Given the description of an element on the screen output the (x, y) to click on. 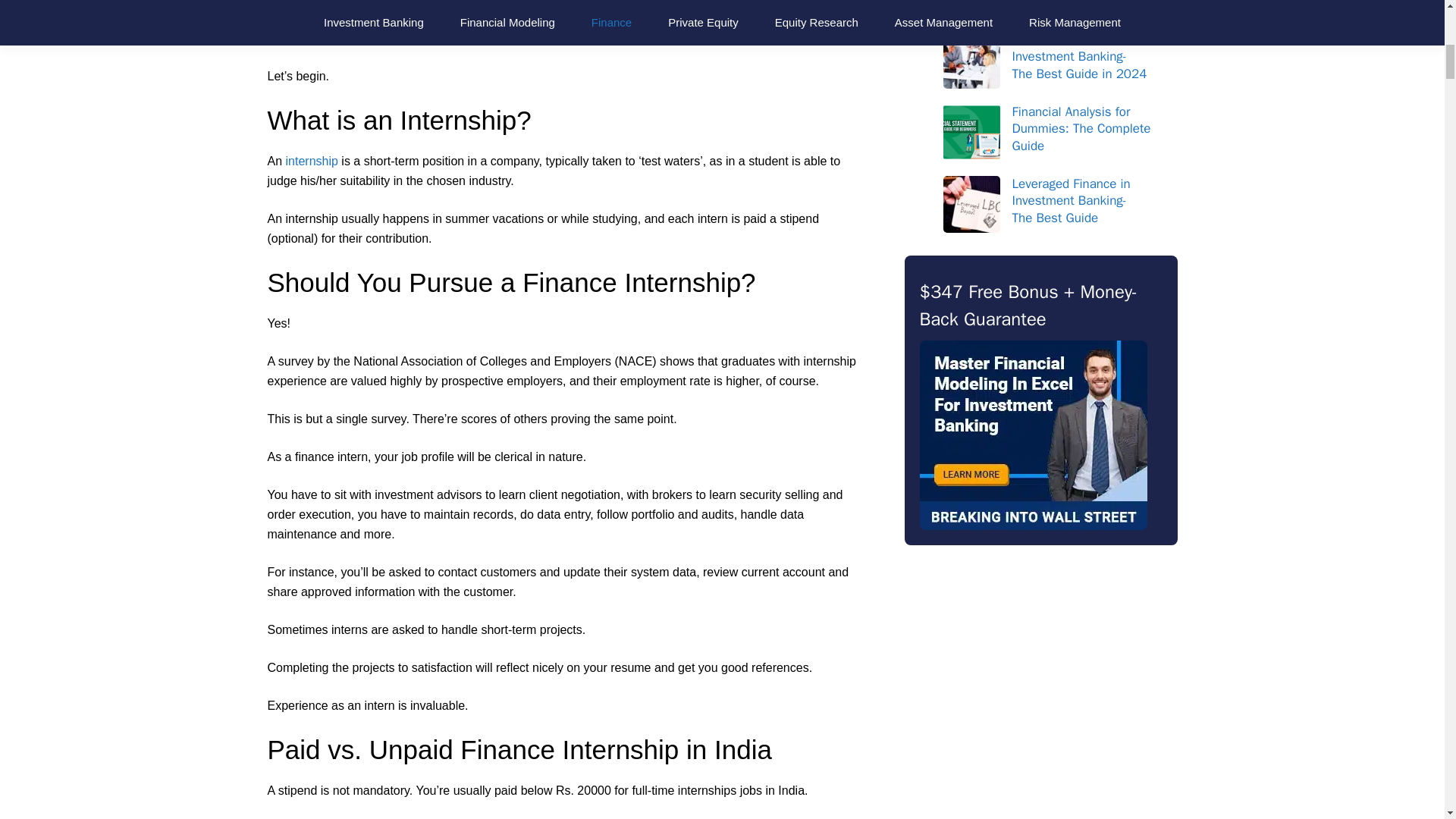
internship (311, 160)
BIWS-Modeling-FM-Excel.jpg (1032, 434)
